Given the description of an element on the screen output the (x, y) to click on. 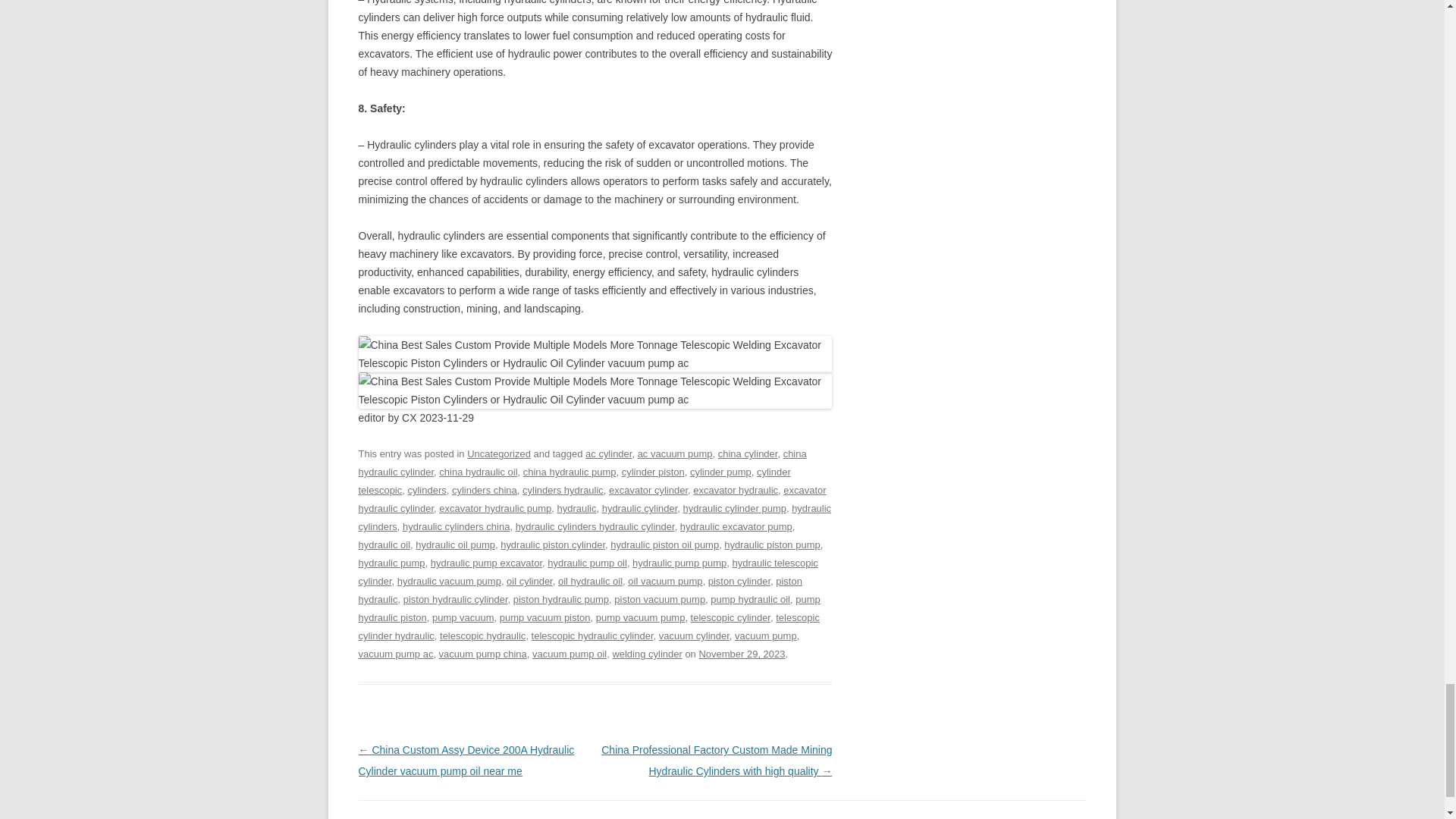
hydraulic excavator pump (735, 526)
excavator hydraulic pump (495, 508)
hydraulic pump excavator (485, 562)
hydraulic oil (384, 544)
cylinder telescopic (574, 481)
hydraulic (575, 508)
hydraulic vacuum pump (448, 581)
cylinder piston (652, 471)
china cylinder (747, 453)
10:13 am (741, 654)
